Given the description of an element on the screen output the (x, y) to click on. 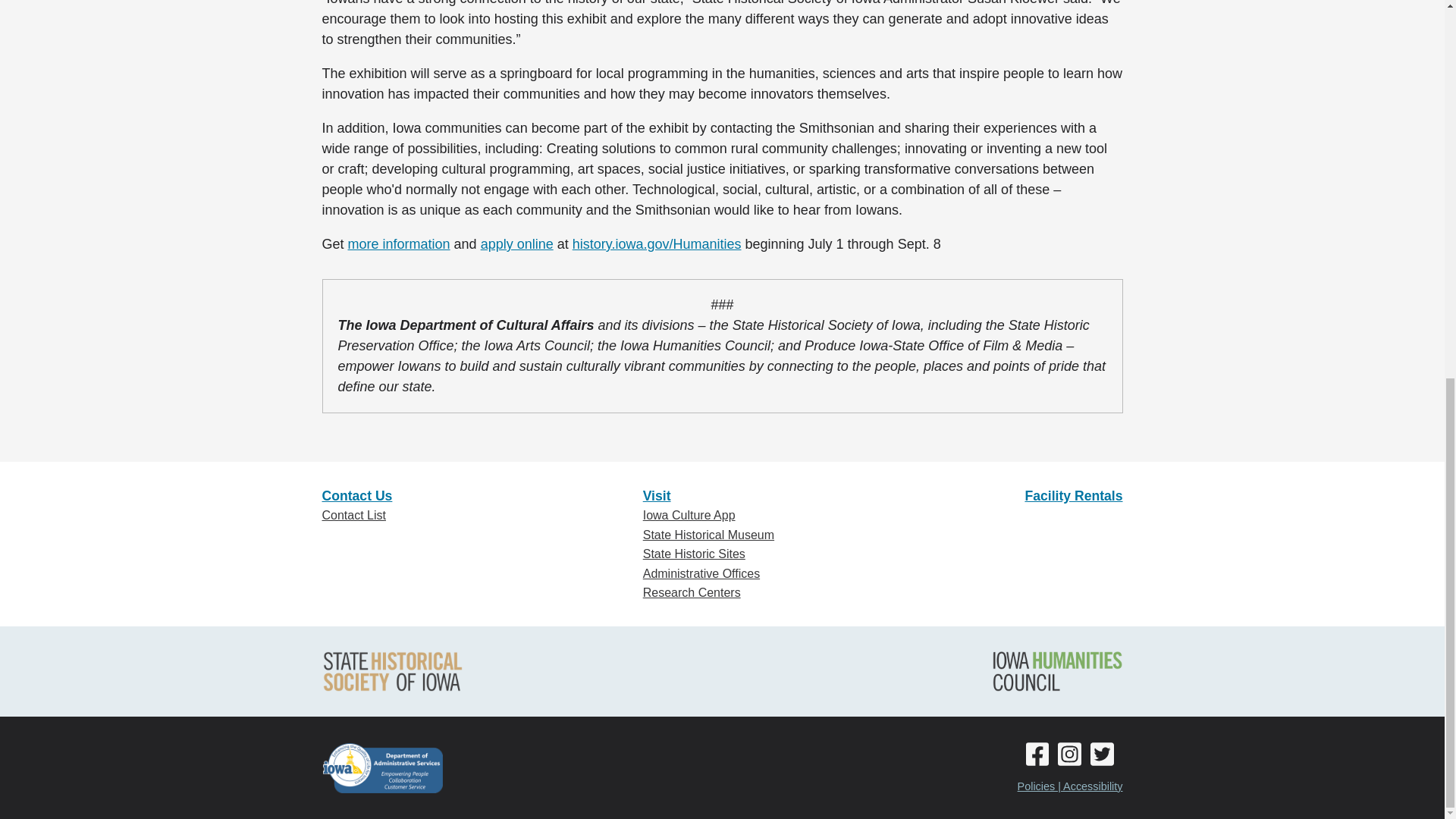
Contact List (353, 514)
State Historic Sites (694, 553)
Administrative Offices (701, 572)
Follow Iowa Department of Cultural Affairs on Twitter (1407, 9)
Iowa Culture App (689, 514)
more information (398, 243)
Contact Us (356, 495)
Dept. of Administrative Services (381, 767)
Research Centers (692, 592)
Iowa Humanities Logo (1056, 671)
Facility Rentals (1073, 495)
Follow Iowa Department of Cultural Affairs on Facebook (1372, 9)
Visit (657, 495)
Follow Iowa Arts Council on Facebook (1372, 32)
Follow State Historical Society of Iowa on Facebook (1372, 61)
